Given the description of an element on the screen output the (x, y) to click on. 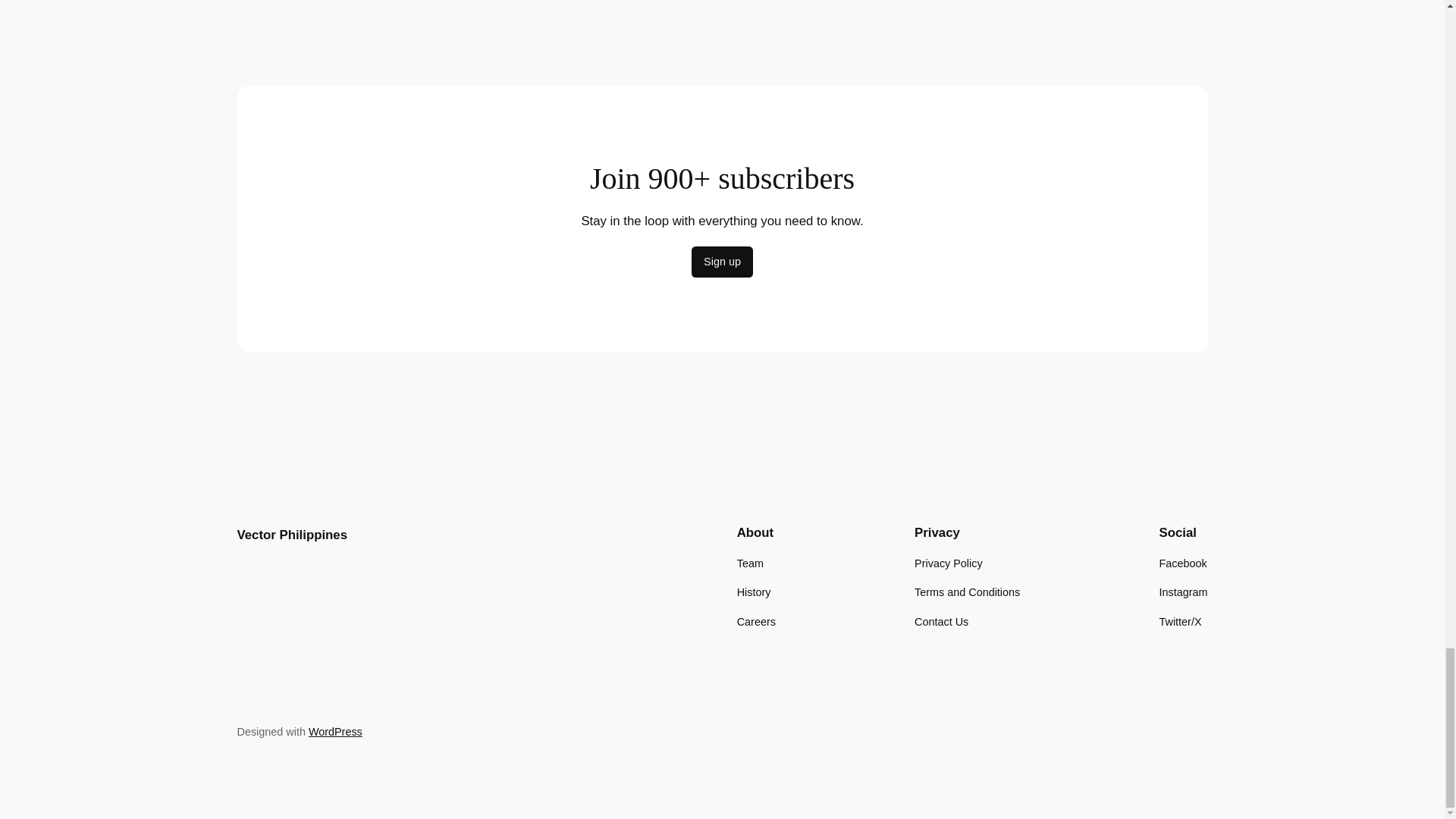
Contact Us (941, 620)
WordPress (335, 731)
Careers (756, 620)
Sign up (721, 262)
Terms and Conditions (967, 591)
History (753, 591)
Vector Philippines (290, 534)
Facebook (1182, 563)
Team (749, 563)
Privacy Policy (948, 563)
Instagram (1182, 591)
